Given the description of an element on the screen output the (x, y) to click on. 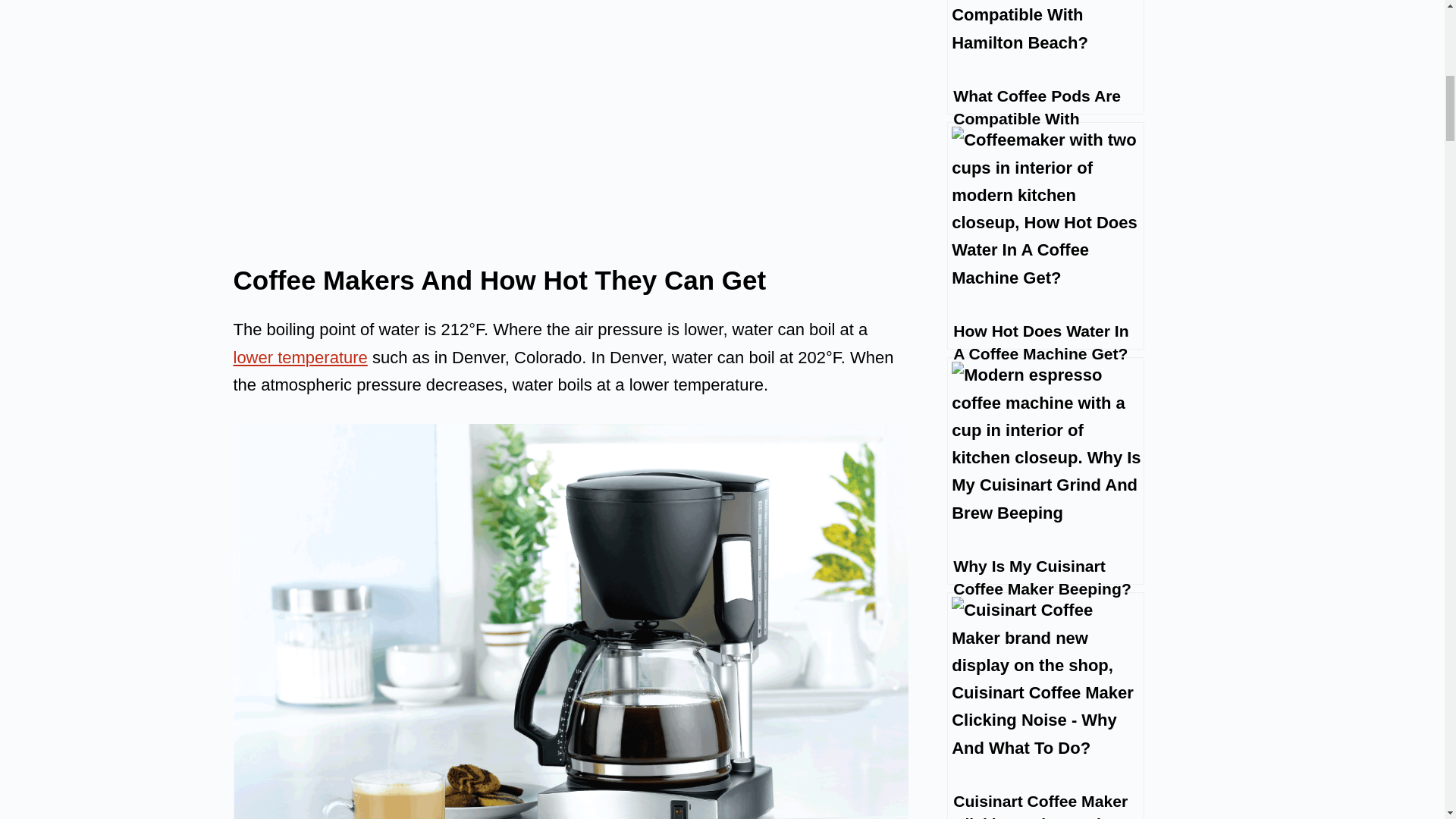
What Coffee Pods Are Compatible With Hamilton Beach? (1045, 57)
